Given the description of an element on the screen output the (x, y) to click on. 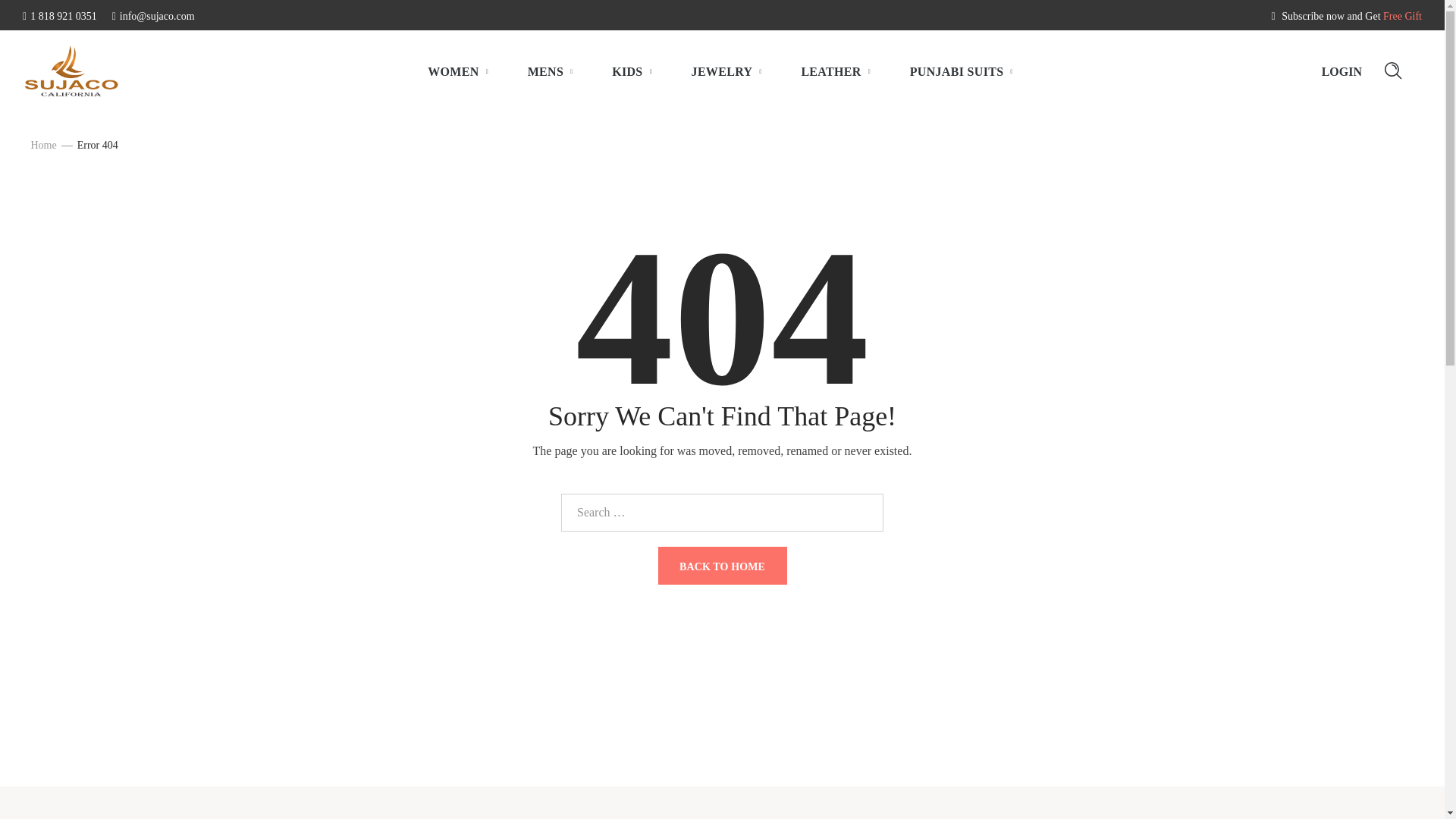
KIDS (631, 71)
MENS (551, 71)
WOMEN (458, 71)
1 818 921 0351 (60, 16)
JEWELRY (727, 71)
